Given the description of an element on the screen output the (x, y) to click on. 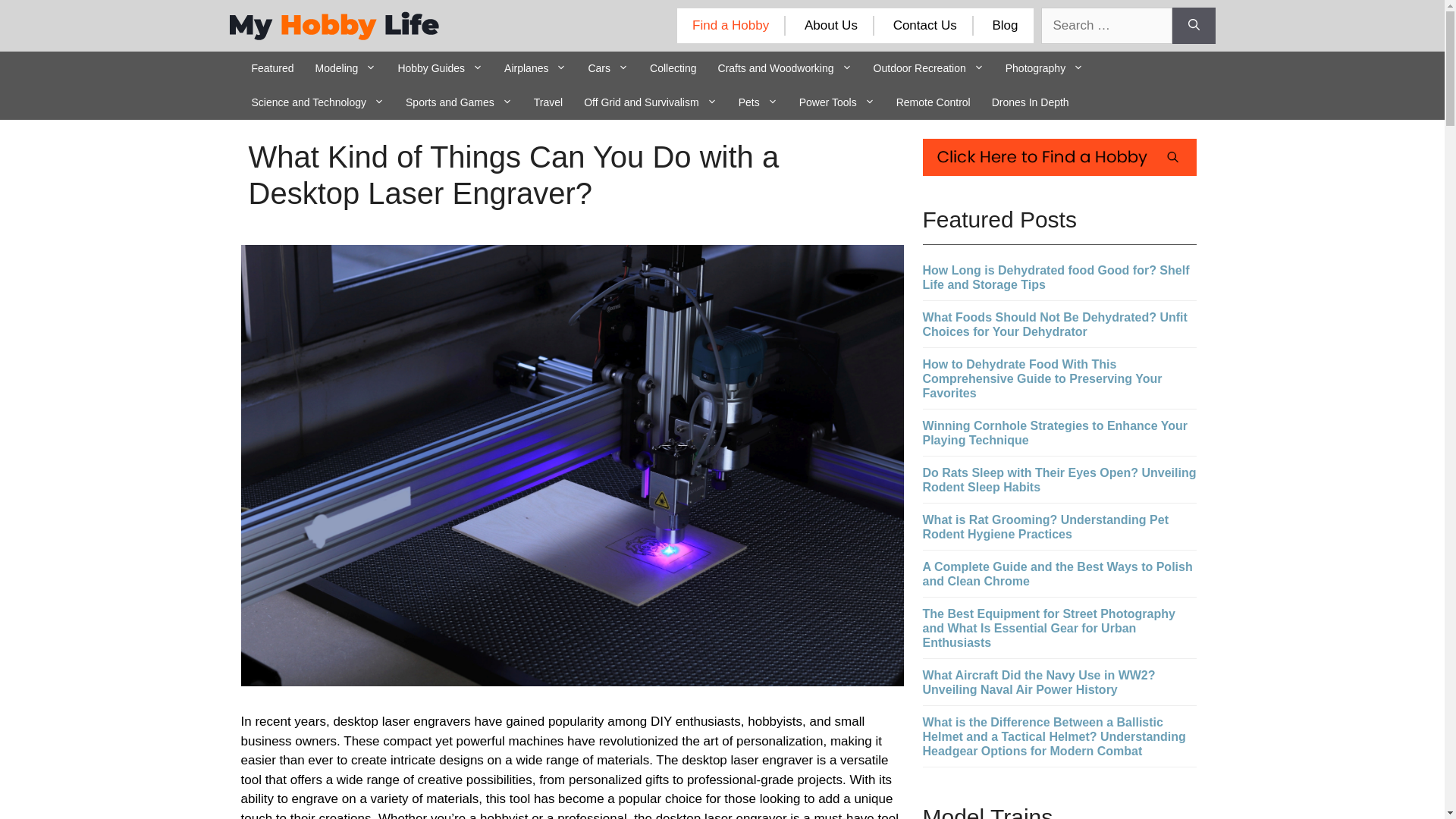
Collecting (672, 68)
Find a Hobby (730, 25)
Hobby Guides (440, 68)
Search for: (1106, 25)
Modeling (345, 68)
Blog (1004, 25)
Cars (607, 68)
Contact Us (924, 25)
Crafts and Woodworking (785, 68)
About Us (831, 25)
Featured (272, 68)
Outdoor Recreation (928, 68)
Airplanes (534, 68)
